Given the description of an element on the screen output the (x, y) to click on. 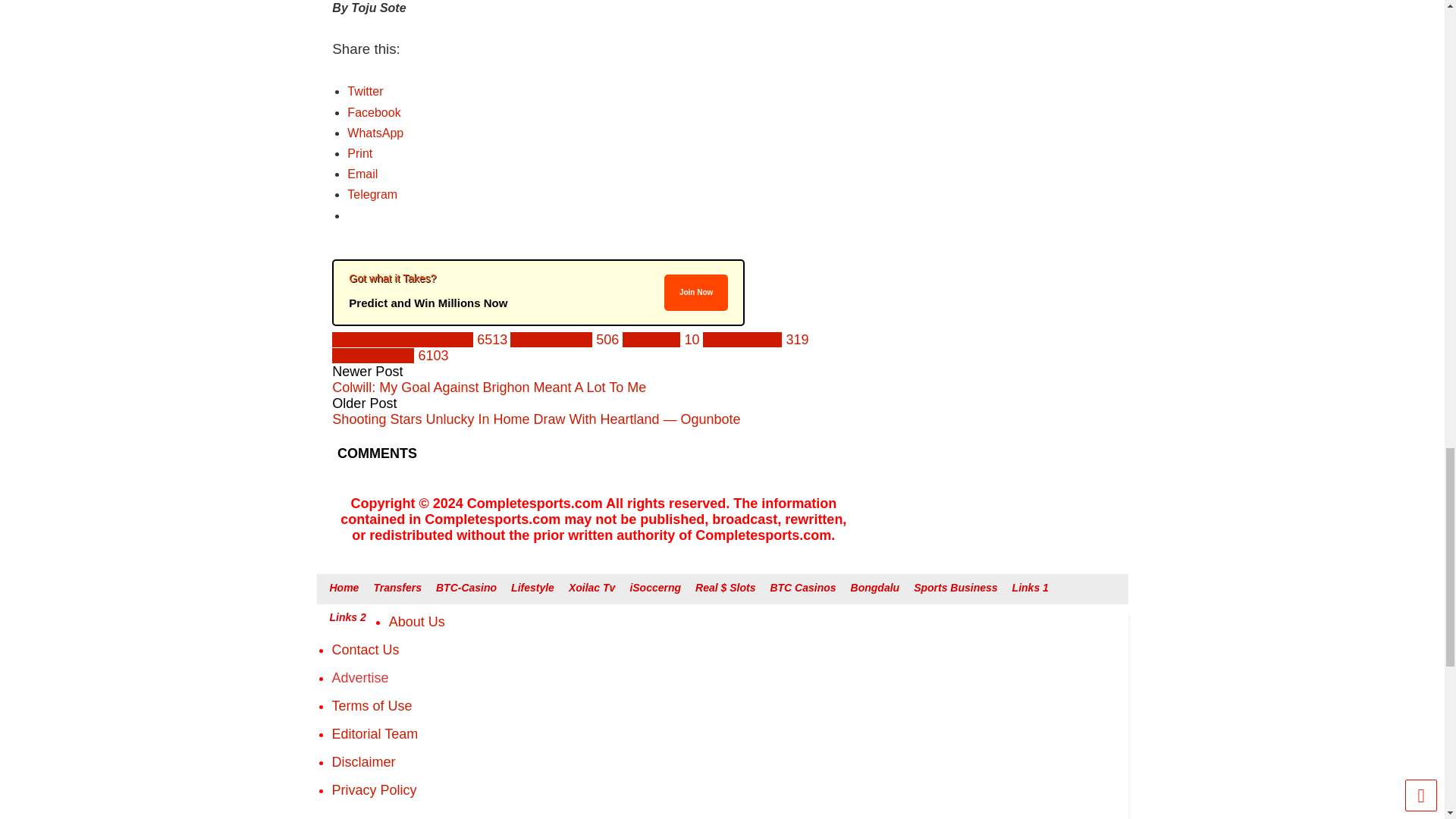
Click to share on WhatsApp (375, 132)
Click to print (359, 153)
Click to share on Telegram (372, 194)
Click to share on Facebook (373, 112)
Click to share on Twitter (364, 91)
Click to email a link to a friend (362, 173)
